Given the description of an element on the screen output the (x, y) to click on. 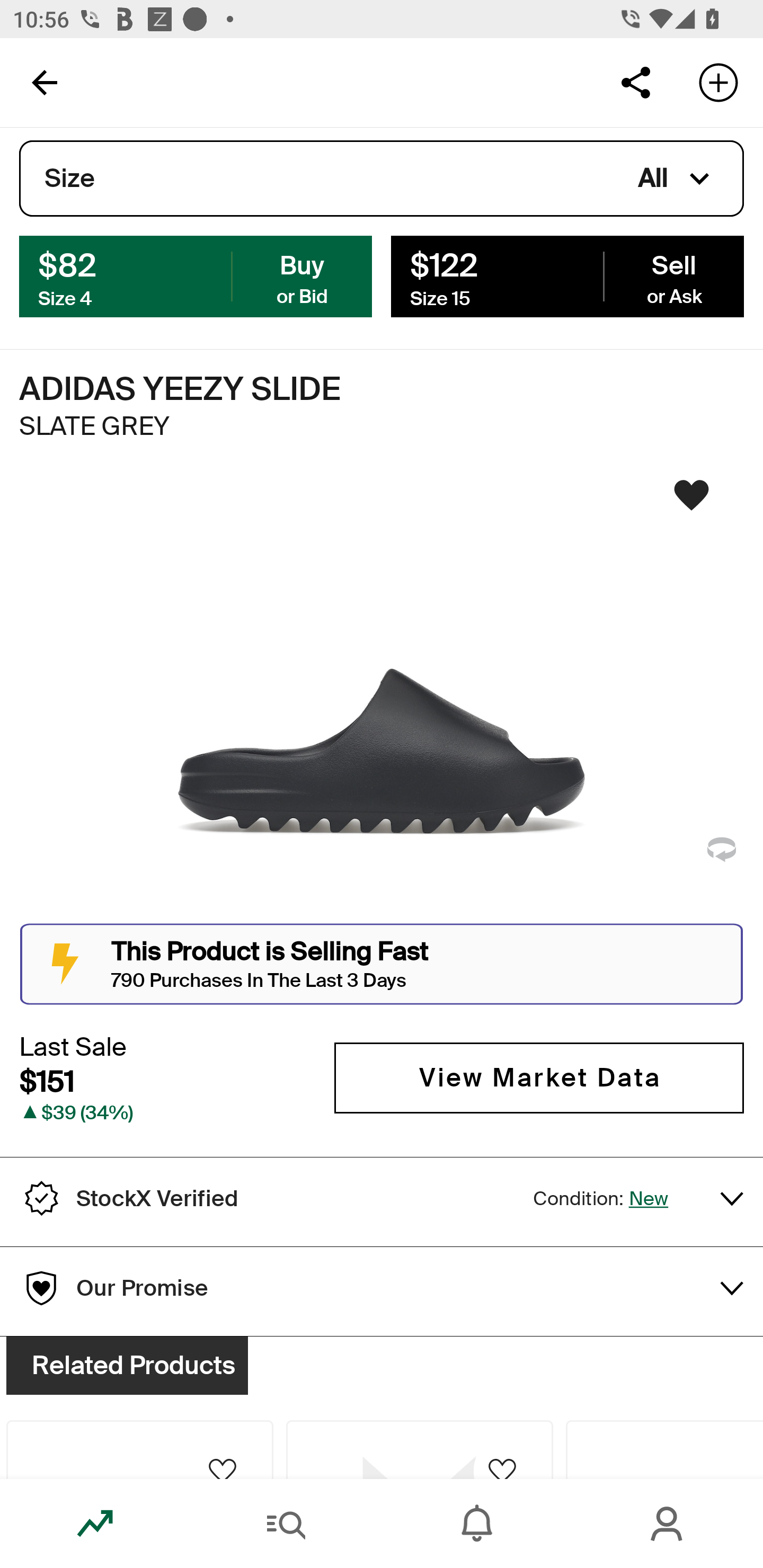
Share (635, 81)
Add (718, 81)
Size All (381, 178)
$82 Buy Size 4 or Bid (195, 275)
$122 Sell Size 15 or Ask (566, 275)
Sneaker Image (381, 699)
View Market Data (538, 1077)
Search (285, 1523)
Inbox (476, 1523)
Account (667, 1523)
